Given the description of an element on the screen output the (x, y) to click on. 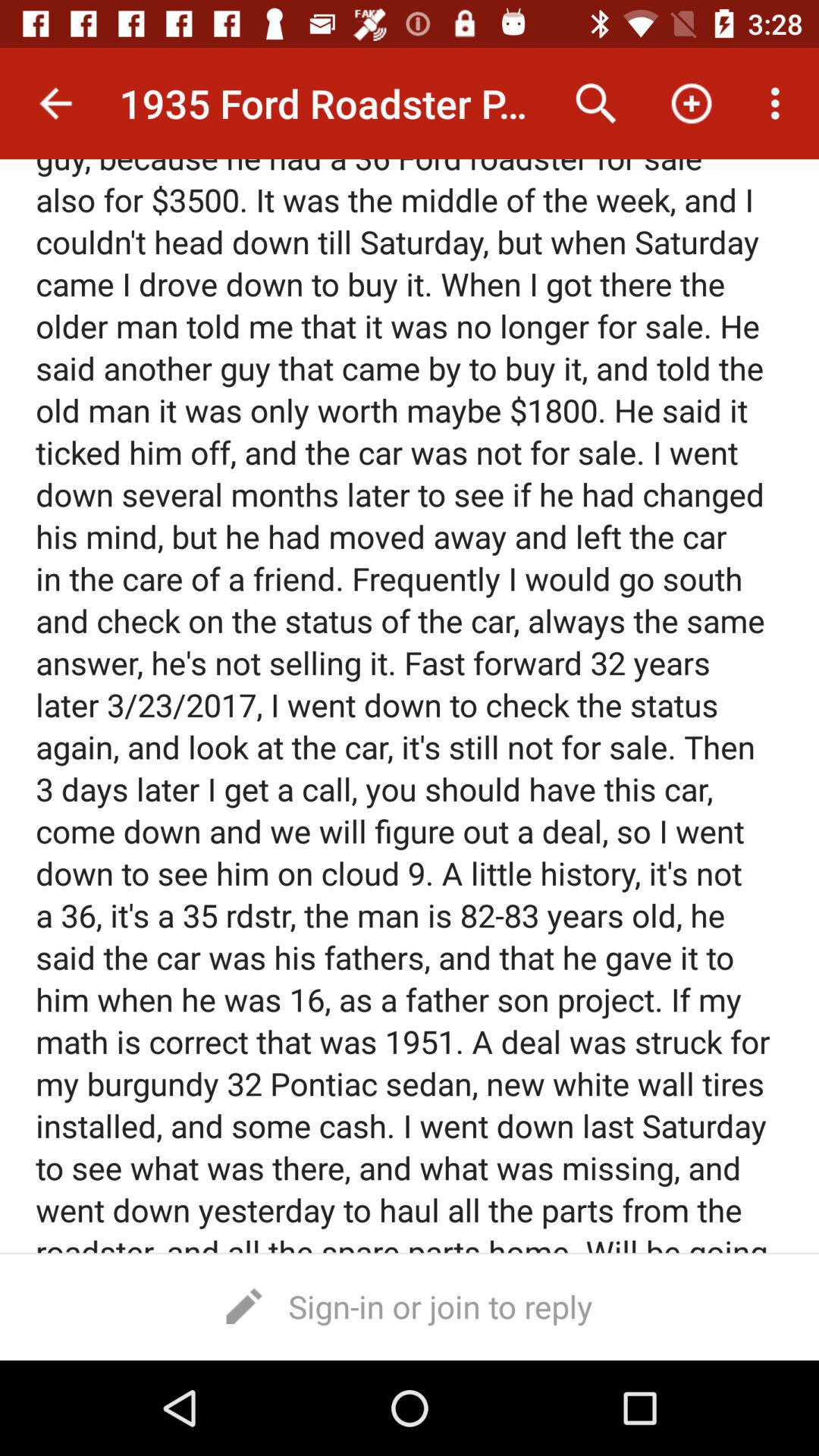
sign-in to reply (409, 1306)
